Given the description of an element on the screen output the (x, y) to click on. 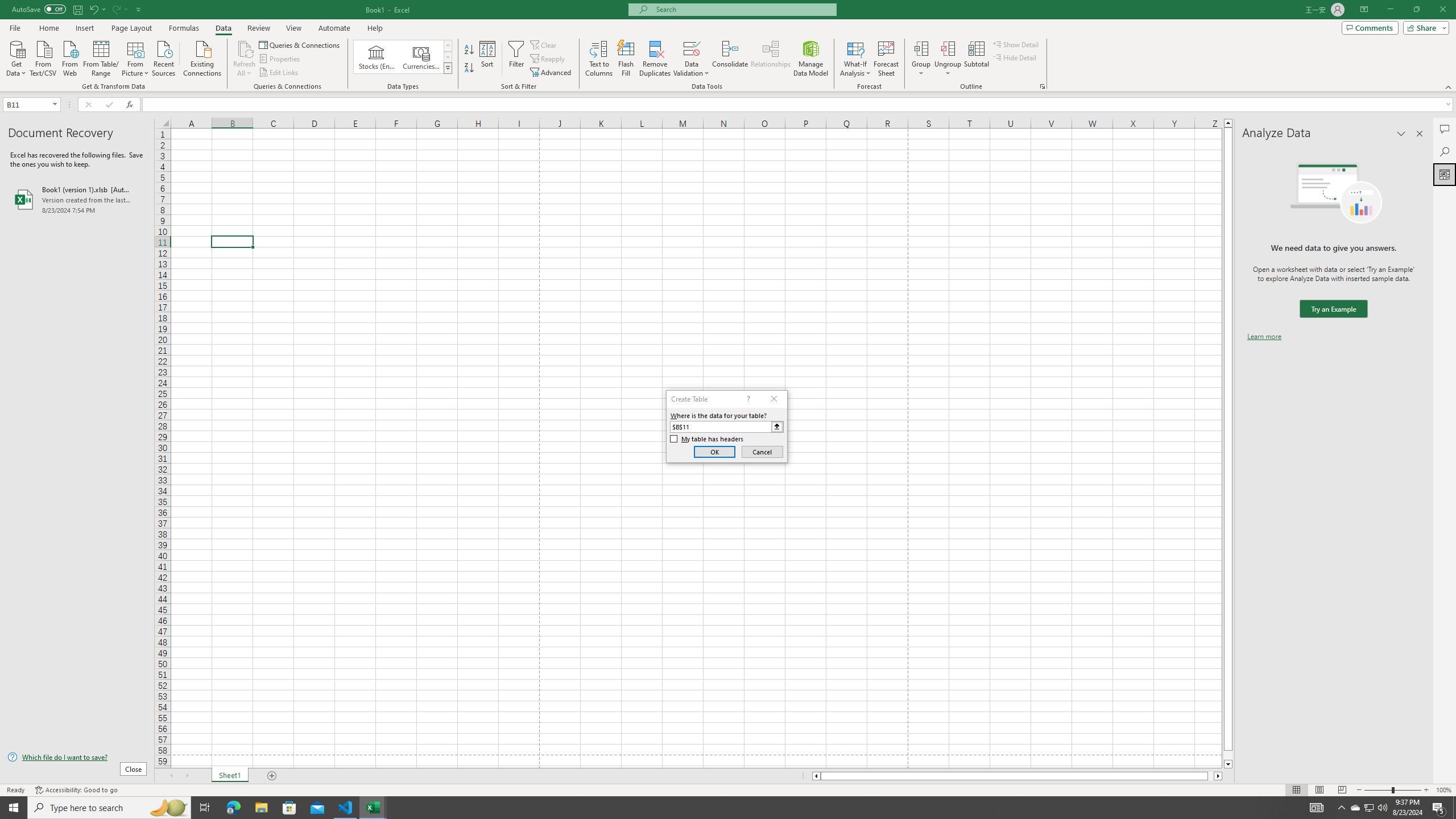
Queries & Connections (300, 44)
Search (1444, 151)
Forecast Sheet (885, 58)
Data Types (448, 67)
Sort A to Z (469, 49)
AutomationID: ConvertToLinkedEntity (403, 56)
Show Detail (1016, 44)
Manage Data Model (810, 58)
